Given the description of an element on the screen output the (x, y) to click on. 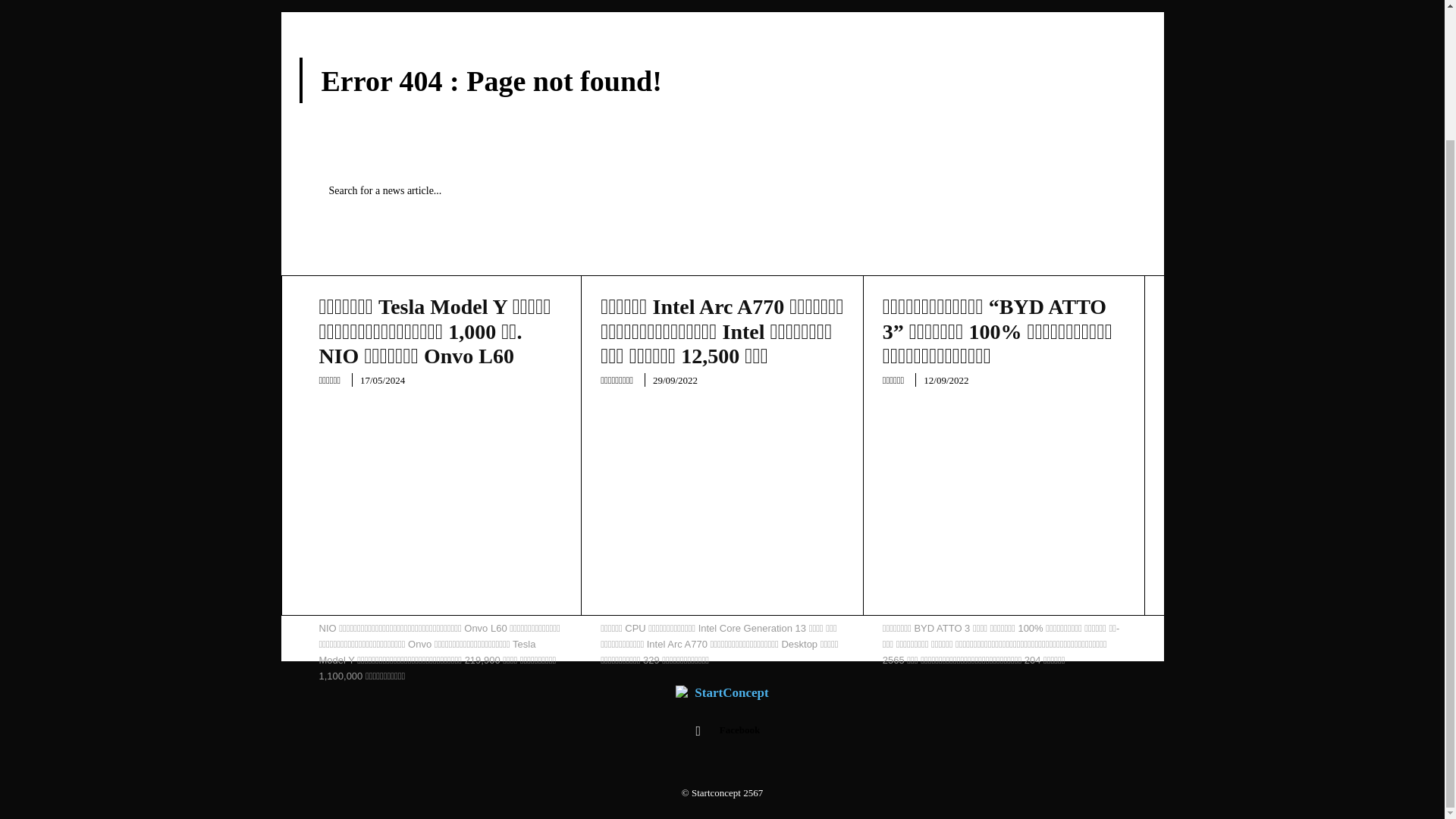
Facebook (697, 730)
SEARCH (1092, 191)
